Given the description of an element on the screen output the (x, y) to click on. 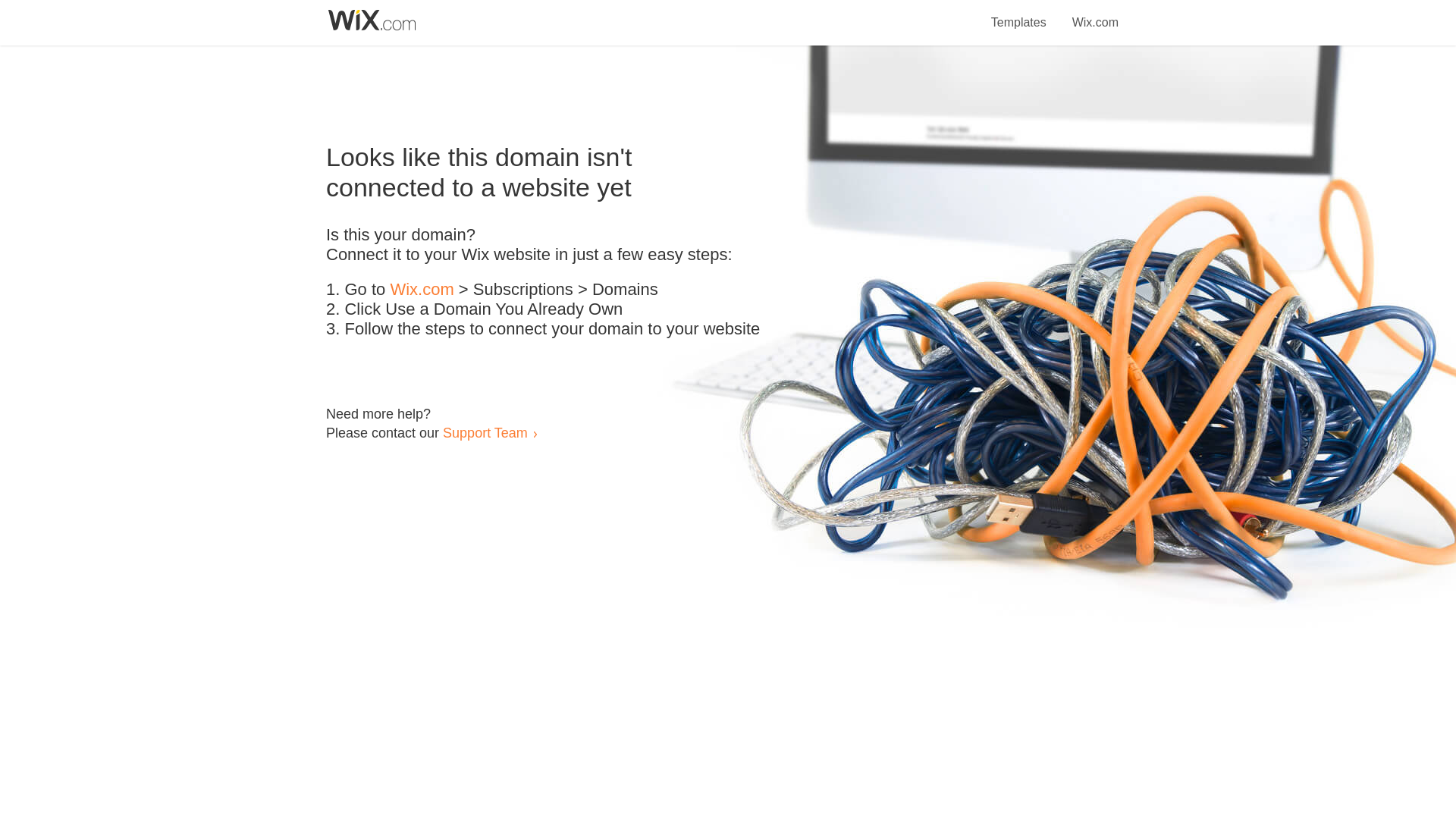
Wix.com (1095, 14)
Wix.com (421, 289)
Support Team (484, 432)
Templates (1018, 14)
